Given the description of an element on the screen output the (x, y) to click on. 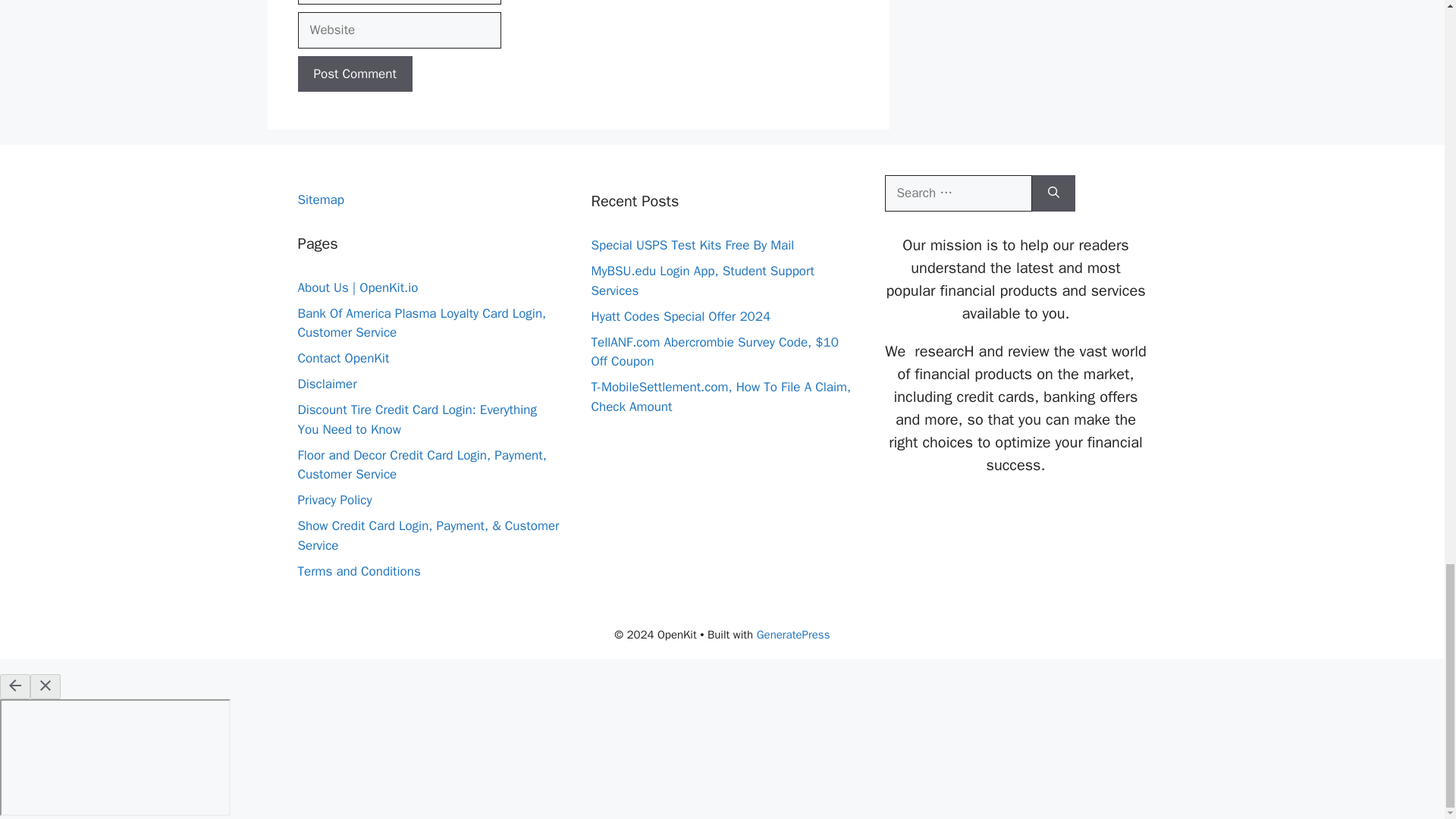
Sitemap (320, 199)
Bank Of America Plasma Loyalty Card Login, Customer Service (421, 323)
Post Comment (354, 74)
Search for: (956, 193)
Post Comment (354, 74)
